Given the description of an element on the screen output the (x, y) to click on. 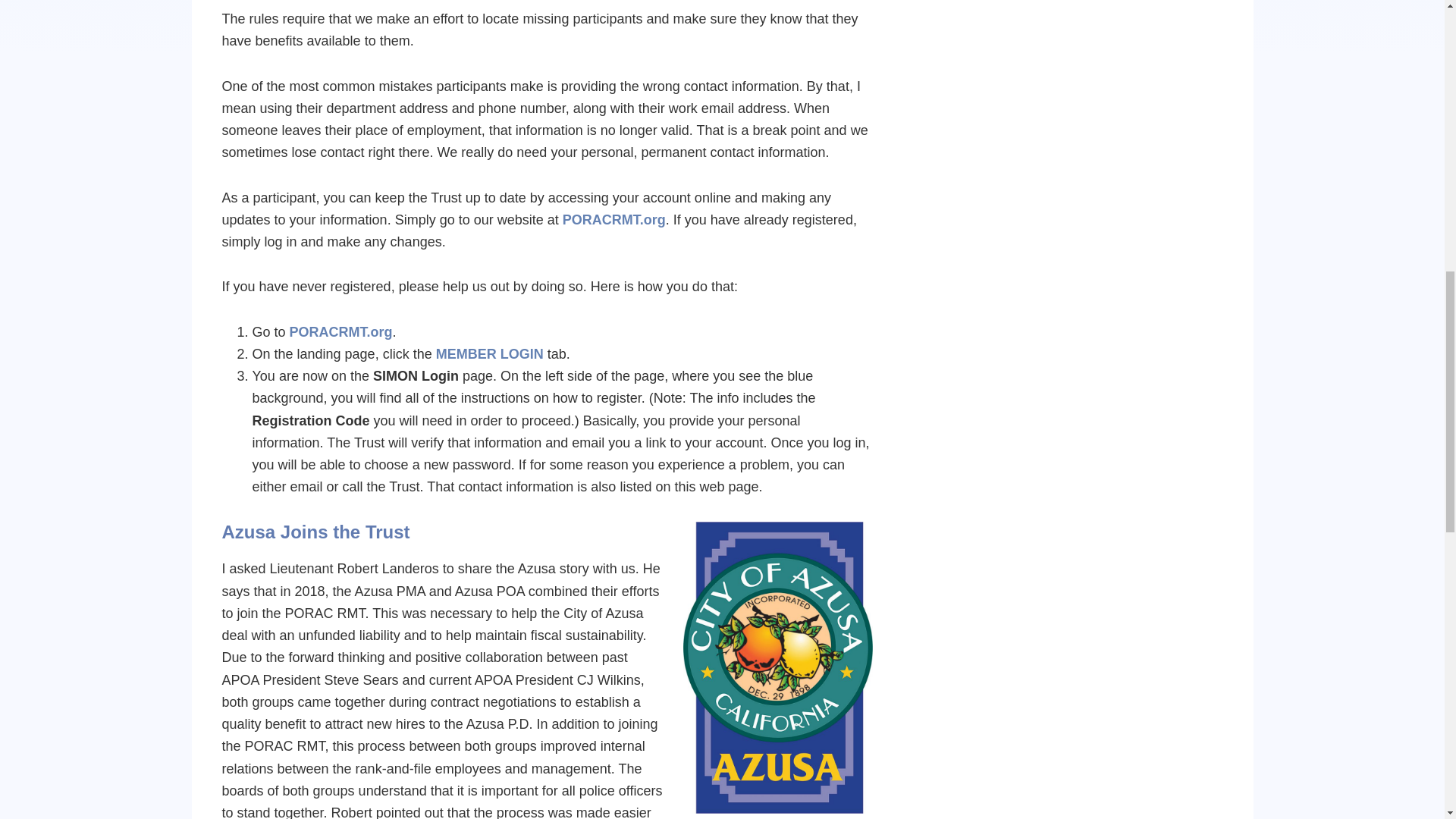
PORACRMT.org (613, 219)
MEMBER LOGIN (489, 353)
PORACRMT.org (341, 331)
